Given the description of an element on the screen output the (x, y) to click on. 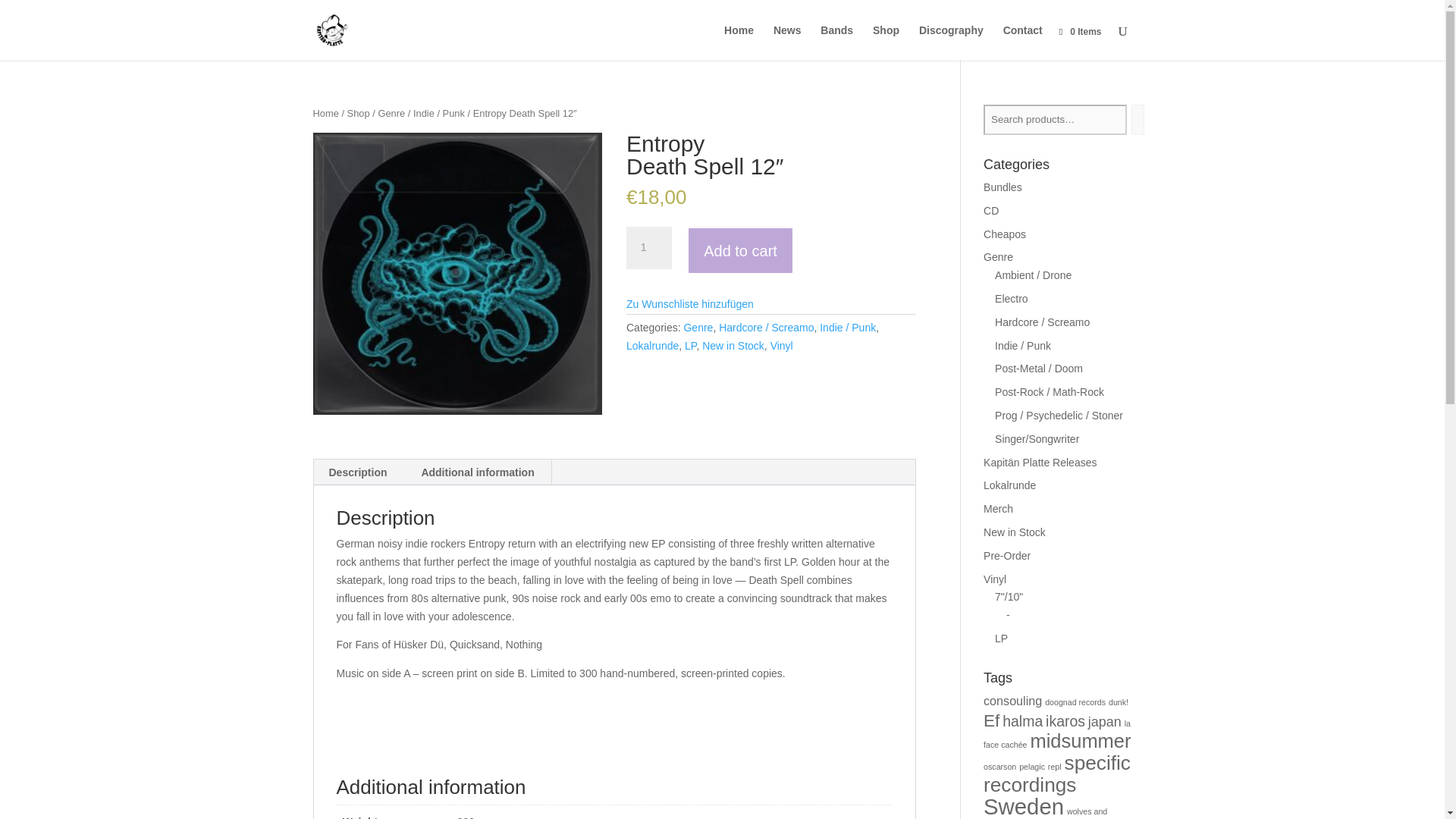
Genre (697, 327)
Genre (998, 256)
Vinyl (781, 345)
1 (648, 247)
Electro (1010, 298)
Lokalrunde (652, 345)
Bands (837, 42)
Additional information (477, 472)
CD (991, 210)
Genre (390, 112)
